Given the description of an element on the screen output the (x, y) to click on. 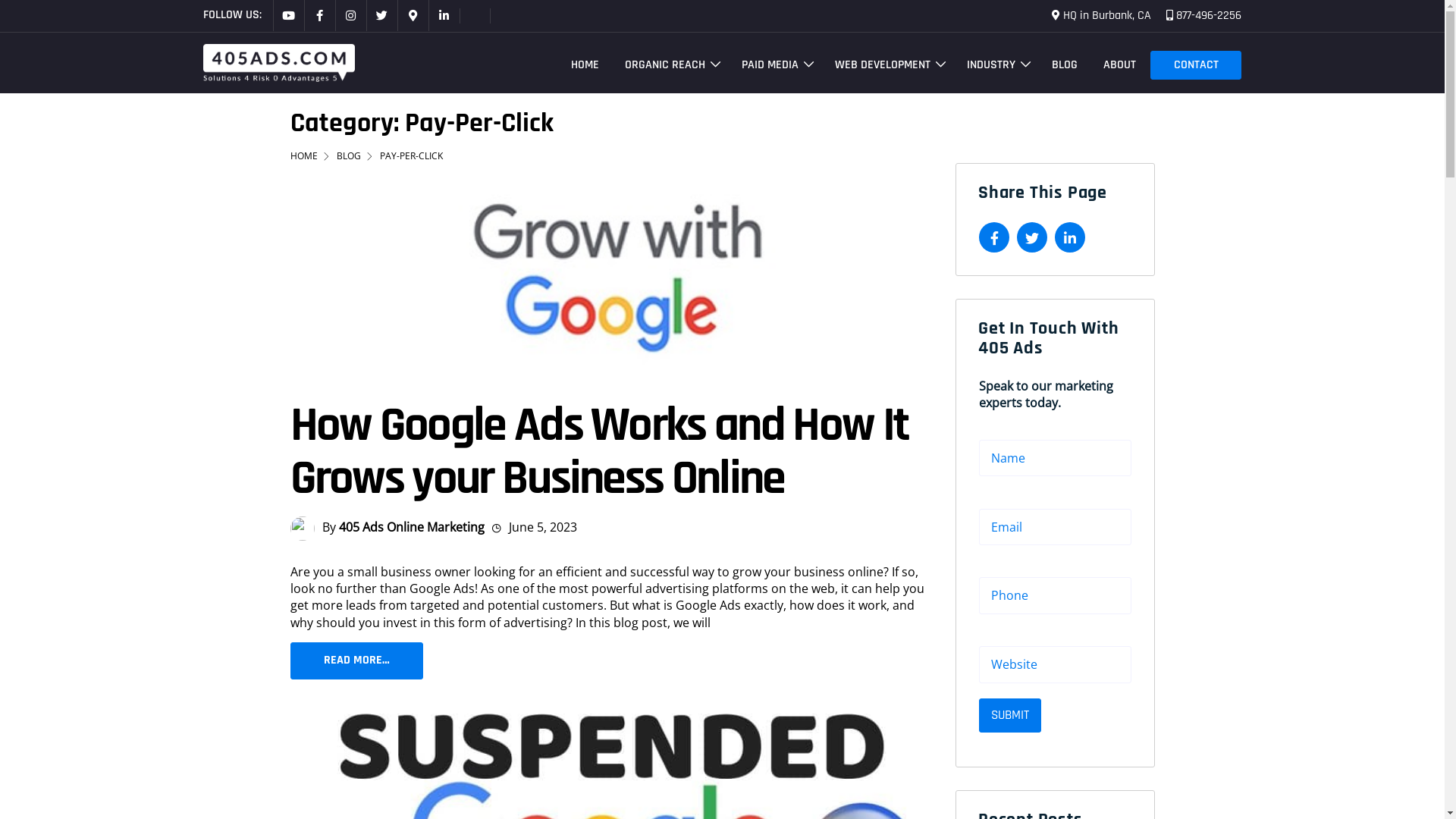
Linkedin Element type: text (442, 15)
405 Ads Online Marketing Element type: text (410, 526)
HOME Element type: text (573, 65)
ORGANIC REACH Element type: text (658, 65)
877-496-2256 Element type: text (1199, 15)
CONTACT Element type: text (1195, 64)
BLOG Element type: text (357, 156)
Share on Facebook Element type: hover (994, 237)
BLOG Element type: text (1053, 65)
Tweet this Element type: hover (1031, 237)
Submit Element type: text (1010, 715)
INDUSTRY Element type: text (985, 65)
June 5, 2023 Element type: text (542, 526)
HQ in Burbank, CA Element type: text (1101, 15)
Instagram Element type: text (350, 15)
Facebook Element type: text (318, 15)
WEB DEVELOPMENT Element type: text (876, 65)
Google Map Element type: text (412, 15)
Yelp Element type: text (474, 14)
YouTube Element type: text (288, 15)
How Google Ads Works and How It Grows your Business Online Element type: text (598, 451)
HOME Element type: text (312, 156)
Share on Linkedin Element type: hover (1069, 237)
ABOUT Element type: text (1107, 65)
Twitter Element type: text (380, 15)
PAID MEDIA Element type: text (763, 65)
